Given the description of an element on the screen output the (x, y) to click on. 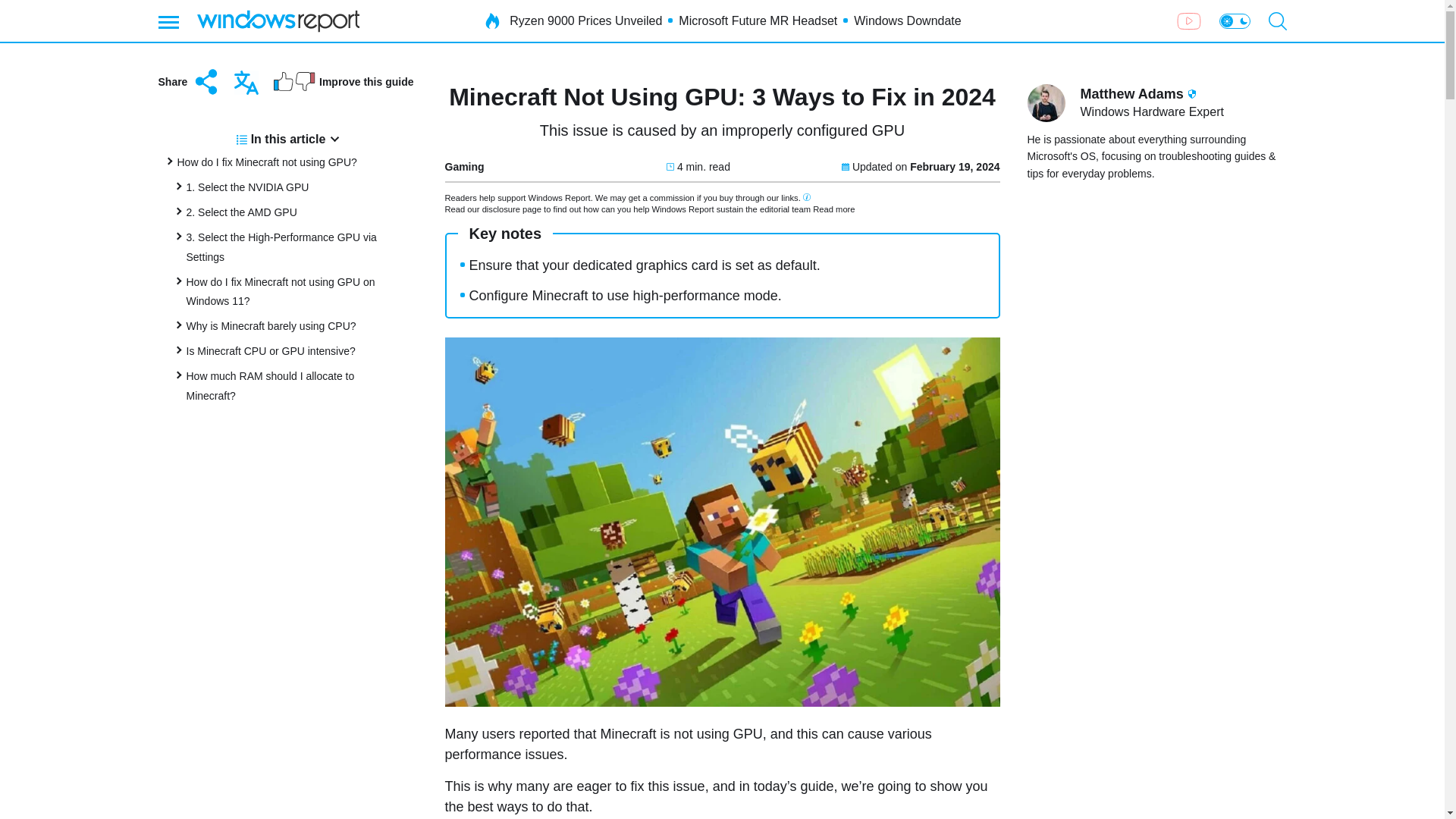
Open search bar (1276, 21)
Share this article (189, 81)
2. Select the AMD GPU (241, 212)
Ryzen 9000 Prices Unveiled (585, 21)
How do I fix Minecraft not using GPU? (266, 162)
1. Select the NVIDIA GPU (247, 186)
Windows Downdate (906, 21)
Microsoft Future MR Headset (757, 21)
Share (189, 81)
